Given the description of an element on the screen output the (x, y) to click on. 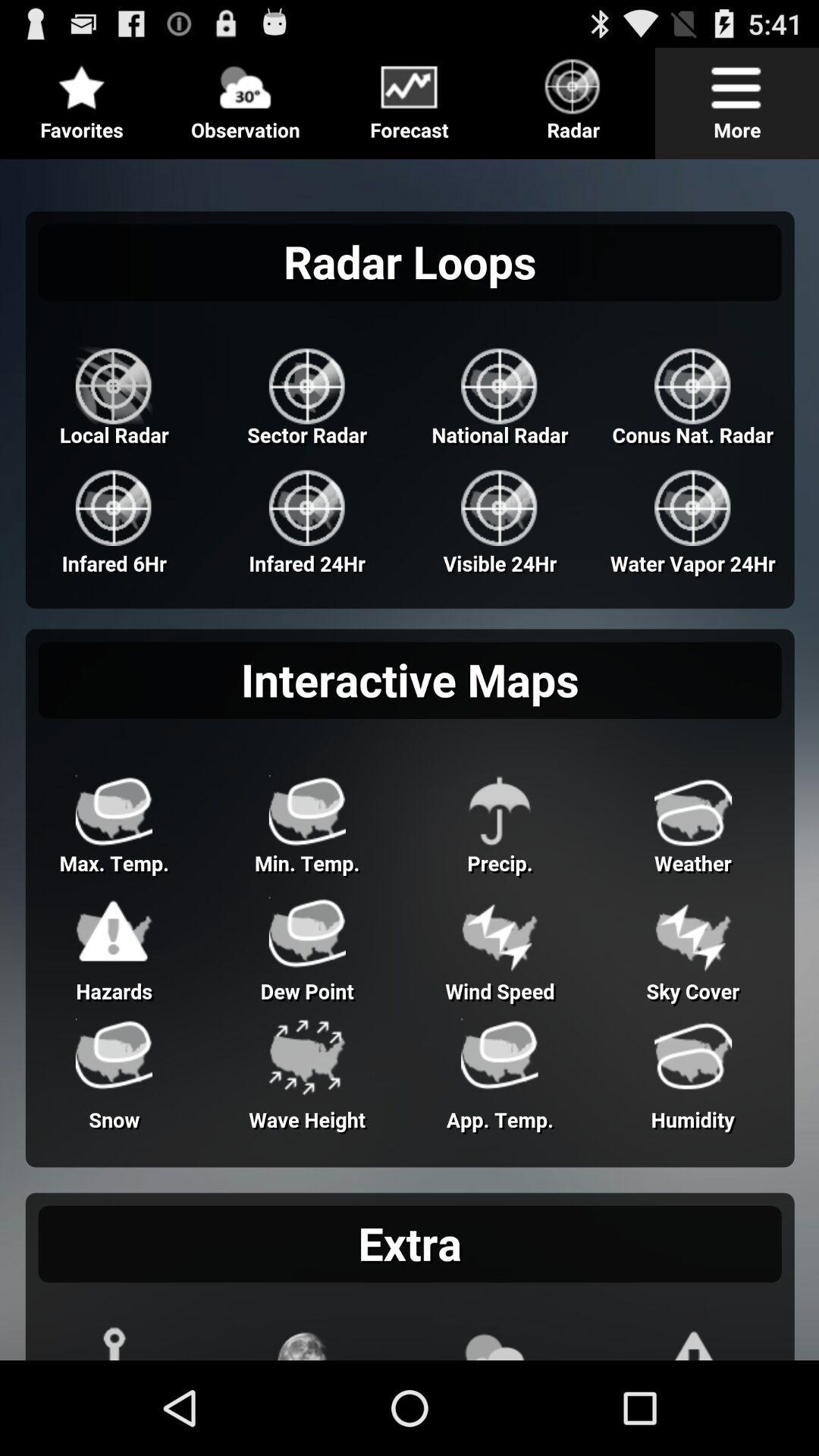
tool bar multiple options (409, 97)
